Given the description of an element on the screen output the (x, y) to click on. 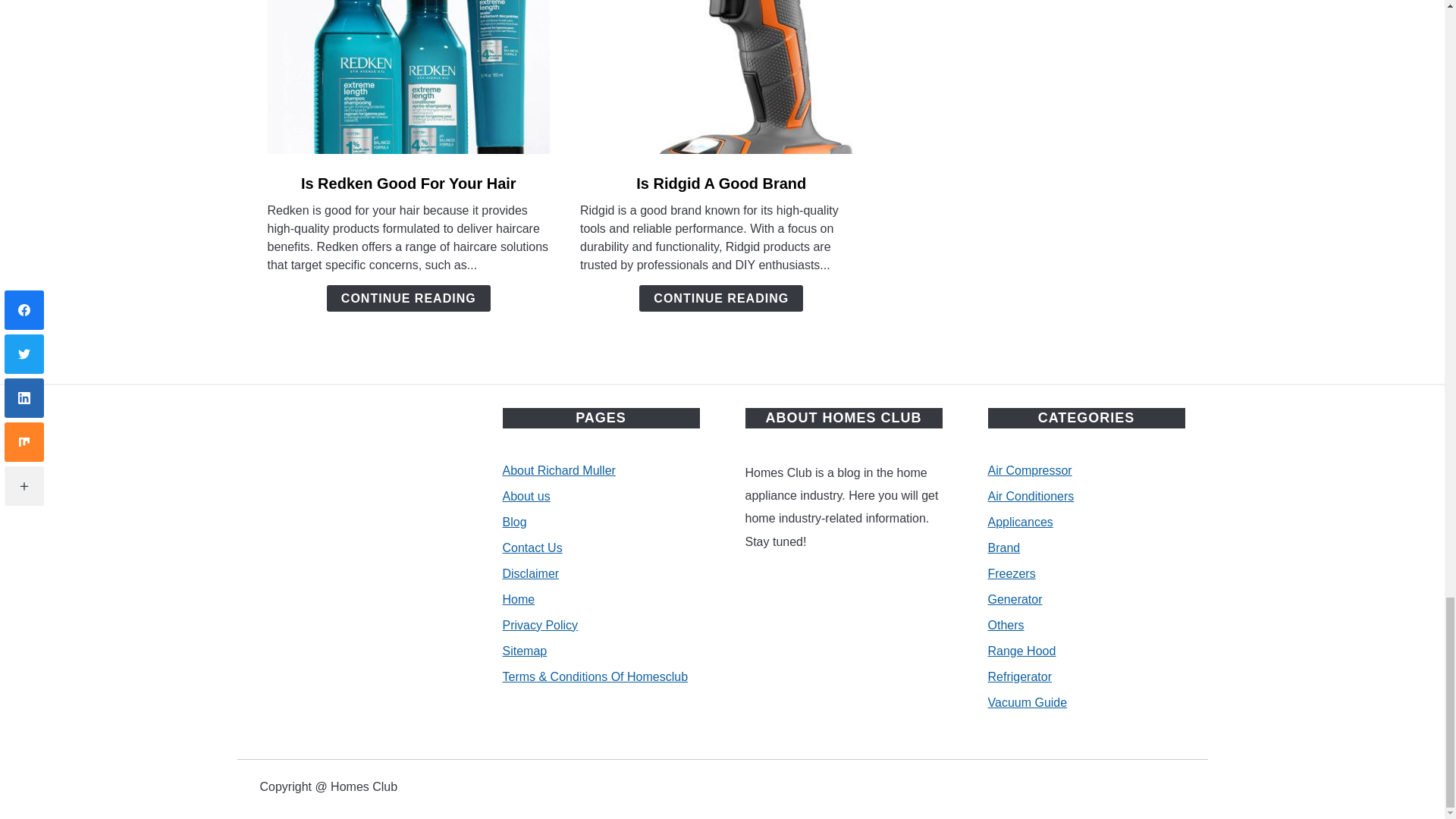
Is Redken Good For Your Hair (408, 183)
Disclaimer (530, 573)
Blog (513, 521)
About us (526, 495)
About Richard Muller (558, 470)
link to Is Ridgid A Good Brand (721, 76)
CONTINUE READING (721, 298)
Is Ridgid A Good Brand (721, 183)
CONTINUE READING (408, 298)
Home (518, 599)
Contact Us (532, 547)
link to Is Redken Good For Your Hair (408, 76)
